Given the description of an element on the screen output the (x, y) to click on. 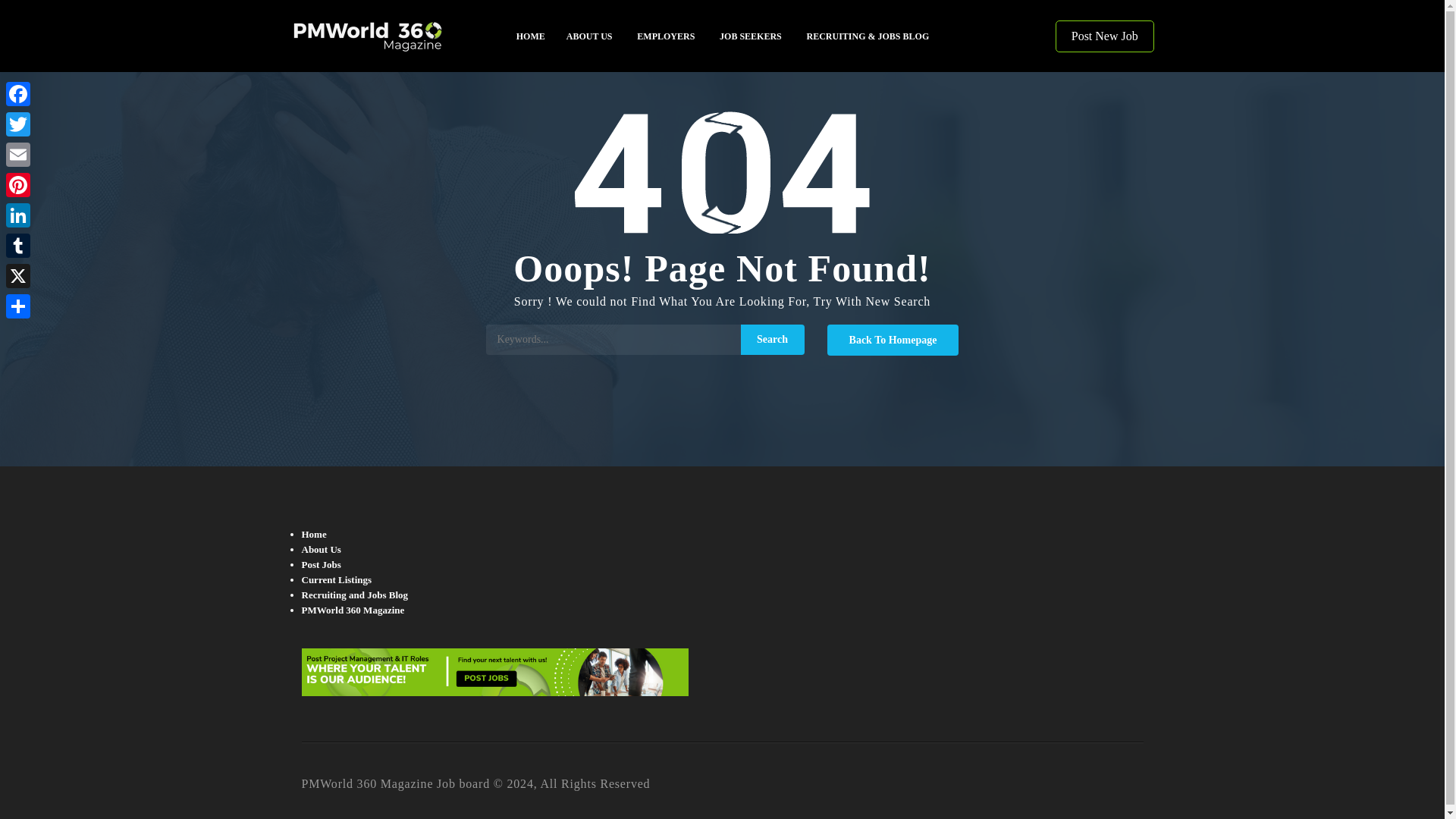
Recruiting and Jobs Blog (355, 594)
PMWorld 360 Magazine Job board (397, 36)
Post New Job (1104, 36)
Post Jobs (320, 564)
Email (17, 154)
Home (313, 533)
Pinterest (17, 184)
About Us (320, 549)
Current Listings (336, 579)
X (17, 276)
Tumblr (17, 245)
Facebook (17, 93)
JOB SEEKERS (750, 35)
Search (773, 339)
Back To Homepage (893, 339)
